Given the description of an element on the screen output the (x, y) to click on. 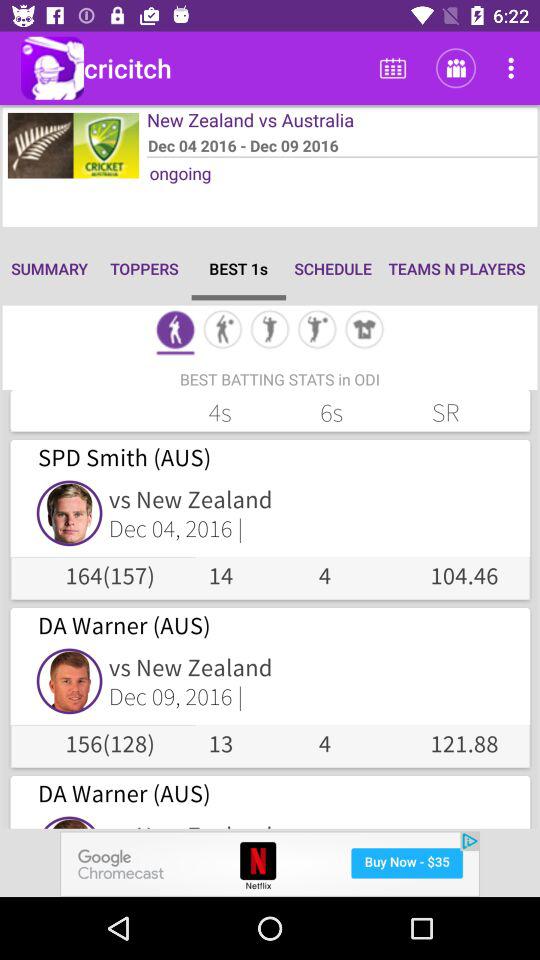
select stats option (269, 331)
